Given the description of an element on the screen output the (x, y) to click on. 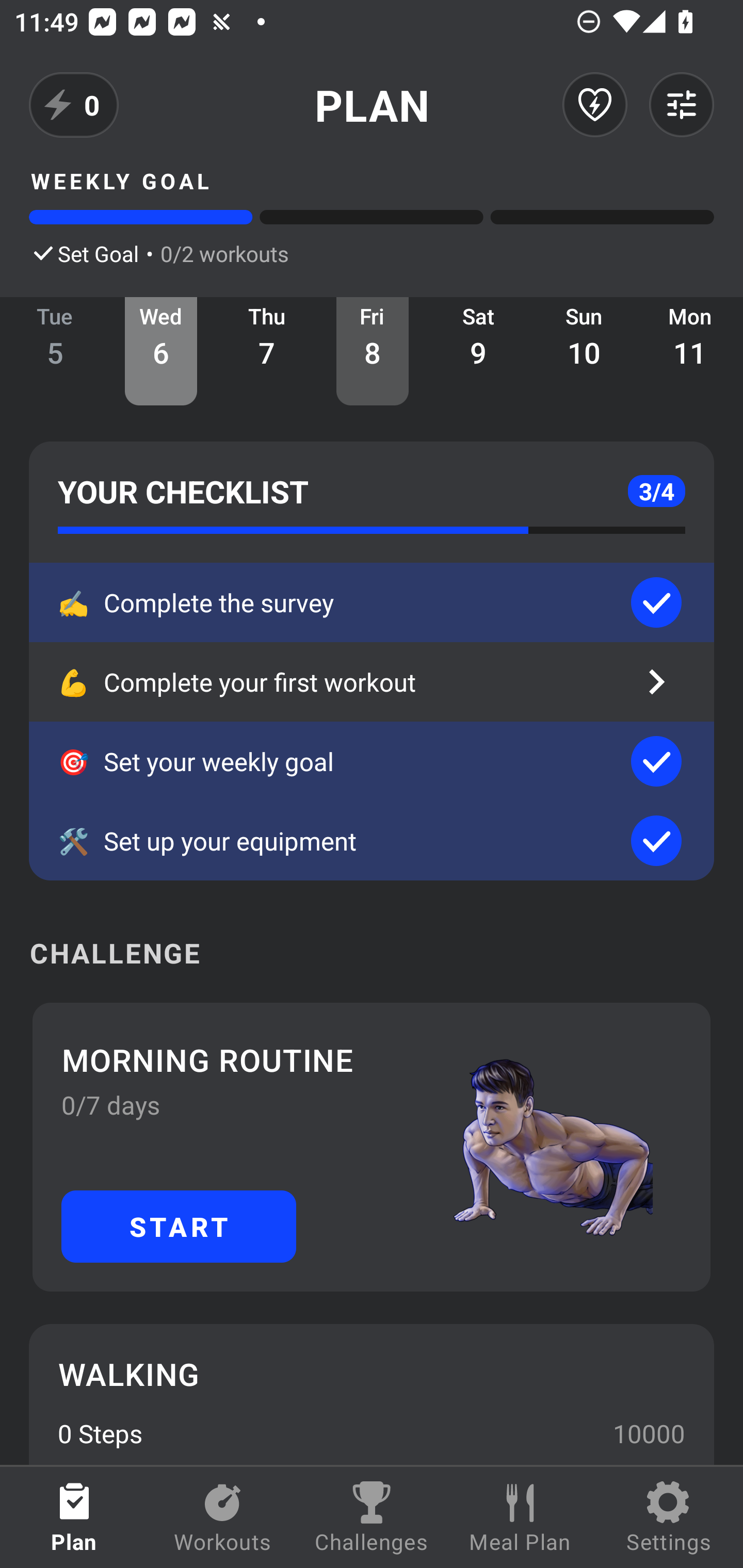
0 (73, 104)
Tue 5 (55, 351)
Wed 6 (160, 351)
Thu 7 (266, 351)
Fri 8 (372, 351)
Sat 9 (478, 351)
Sun 10 (584, 351)
Mon 11 (690, 351)
💪 Complete your first workout (371, 681)
MORNING ROUTINE 0/7 days START (371, 1146)
START (178, 1226)
WALKING 0 Steps 10000 (371, 1393)
 Workouts  (222, 1517)
 Challenges  (371, 1517)
 Meal Plan  (519, 1517)
 Settings  (668, 1517)
